Given the description of an element on the screen output the (x, y) to click on. 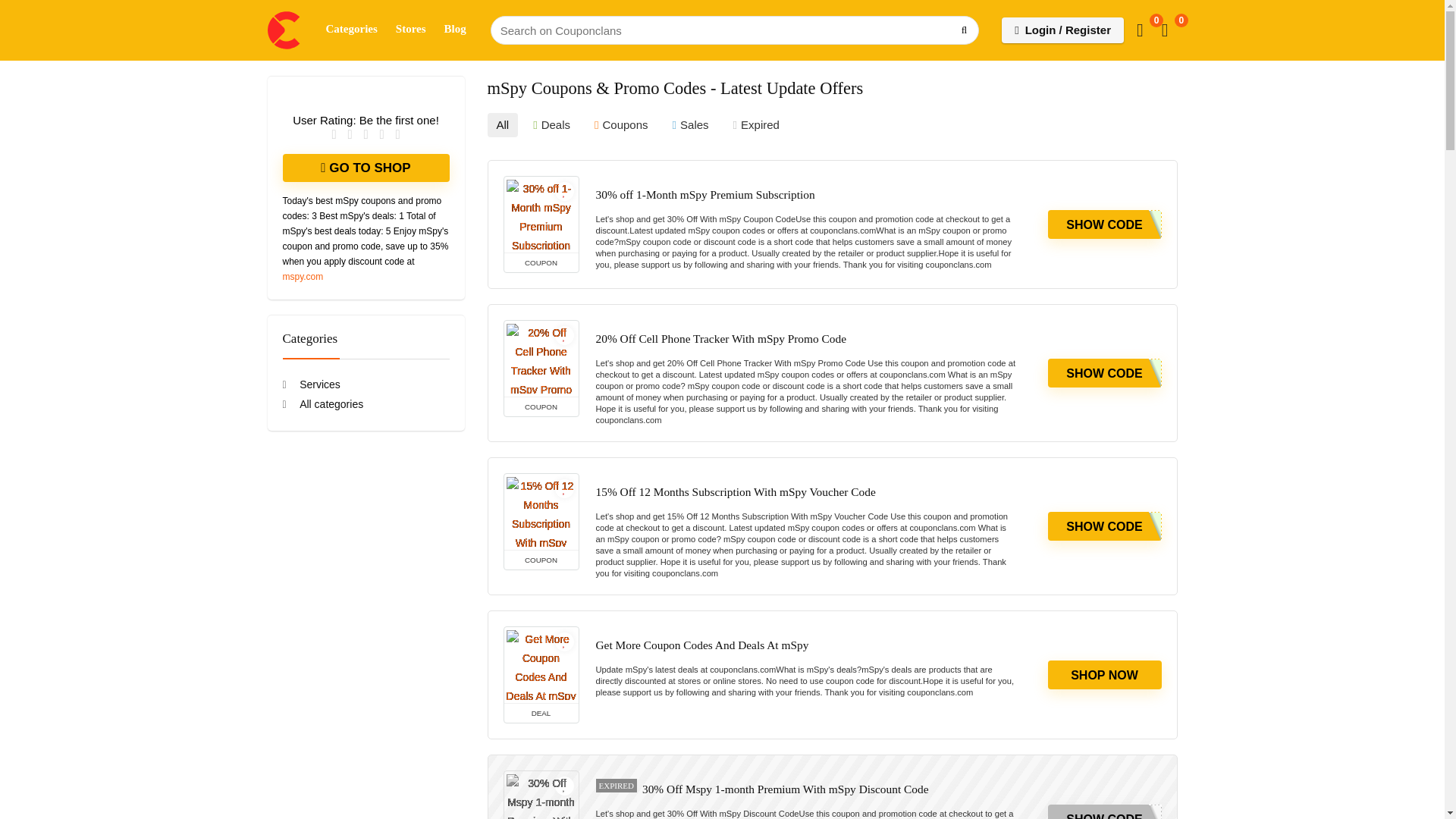
Categories (352, 29)
Stores (411, 29)
Get More Coupon Codes And Deals At mSpy (540, 664)
mspy.com (302, 276)
SHOP NOW (1104, 674)
All categories (322, 404)
Get More Coupon Codes And Deals At mSpy (702, 644)
Blog (455, 29)
GO TO SHOP (365, 167)
Services (310, 384)
